Given the description of an element on the screen output the (x, y) to click on. 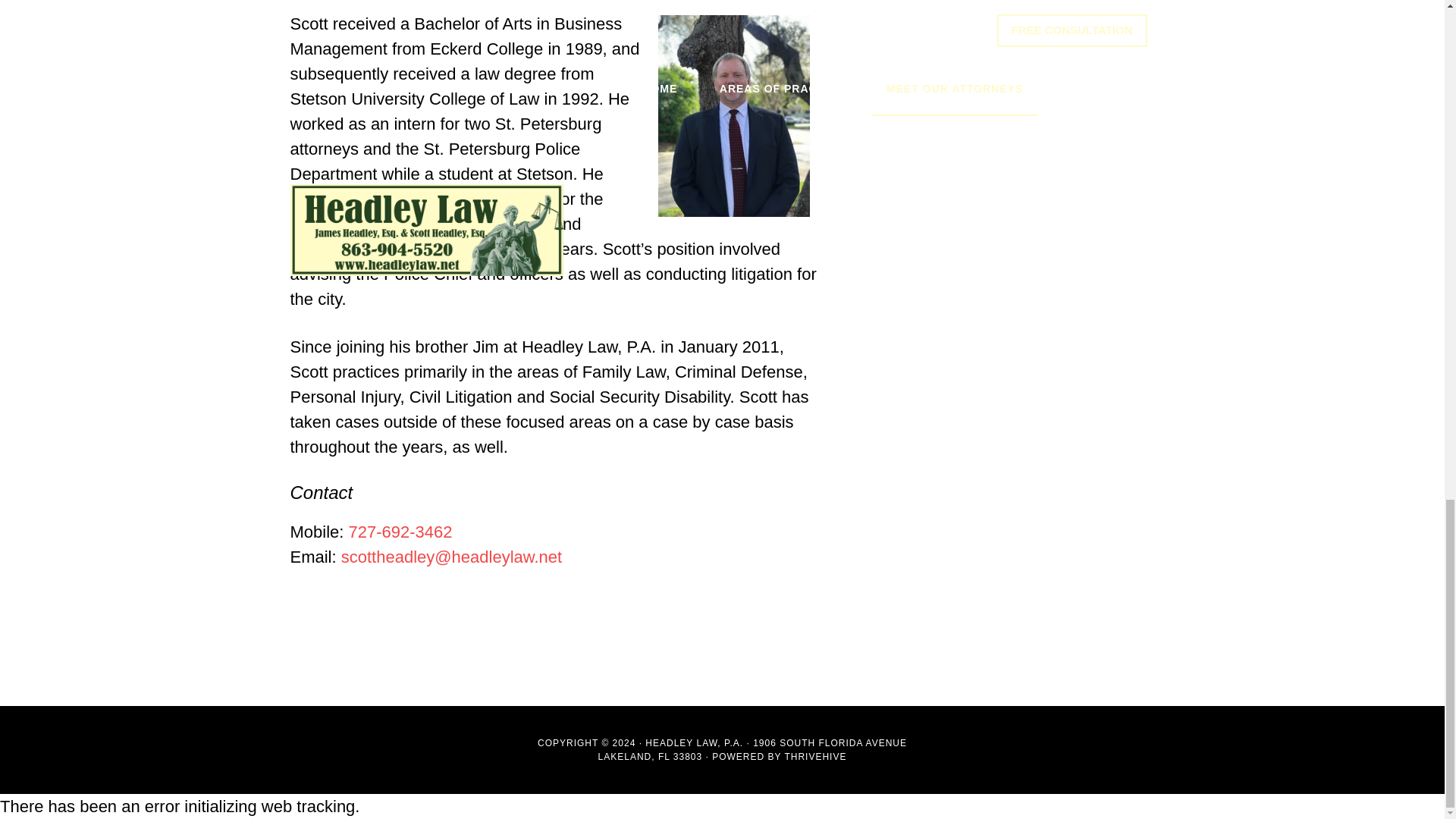
ThriveHive (814, 756)
727-692-3462 (400, 531)
HEADLEY LAW, P.A. (693, 742)
THRIVEHIVE (814, 756)
